Given the description of an element on the screen output the (x, y) to click on. 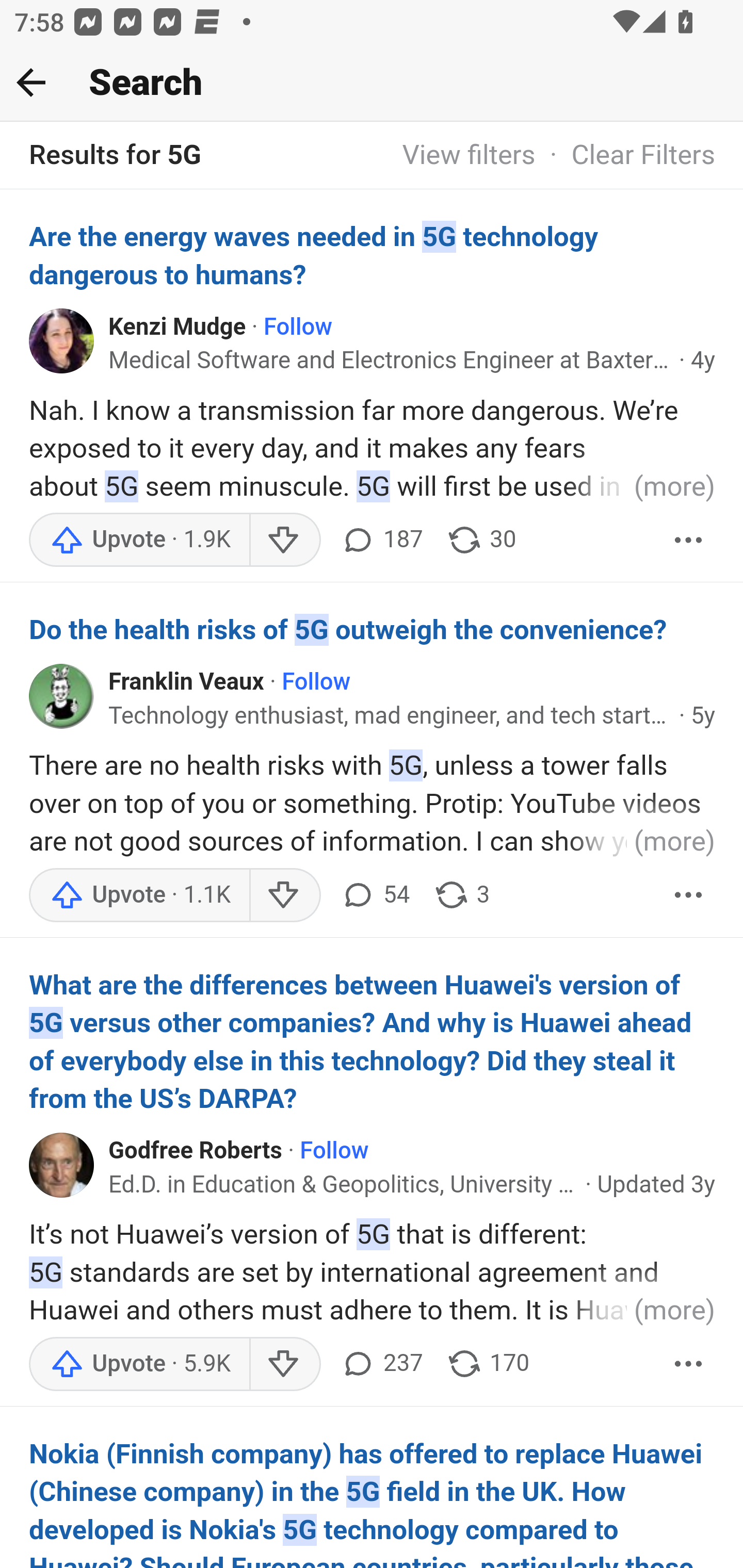
Back Search (371, 82)
Back (30, 82)
View filters (468, 155)
· Clear Filters · Clear Filters (625, 155)
Profile photo for Kenzi Mudge (61, 340)
Kenzi Mudge (177, 326)
Follow (297, 326)
4y 4 y (702, 360)
Upvote (138, 539)
Downvote (283, 539)
187 comments (380, 539)
30 shares (480, 539)
More (688, 539)
Profile photo for Franklin Veaux (61, 696)
Franklin Veaux (186, 681)
Follow (316, 681)
5y 5 y (702, 714)
Upvote (138, 895)
Downvote (283, 895)
54 comments (374, 895)
3 shares (460, 895)
More (688, 895)
Profile photo for Godfree Roberts (61, 1163)
Godfree Roberts (195, 1150)
Follow (334, 1150)
Updated 3y Updated  3 y (655, 1184)
Upvote (138, 1363)
Downvote (283, 1363)
237 comments (380, 1363)
170 shares (487, 1363)
More (688, 1363)
